Given the description of an element on the screen output the (x, y) to click on. 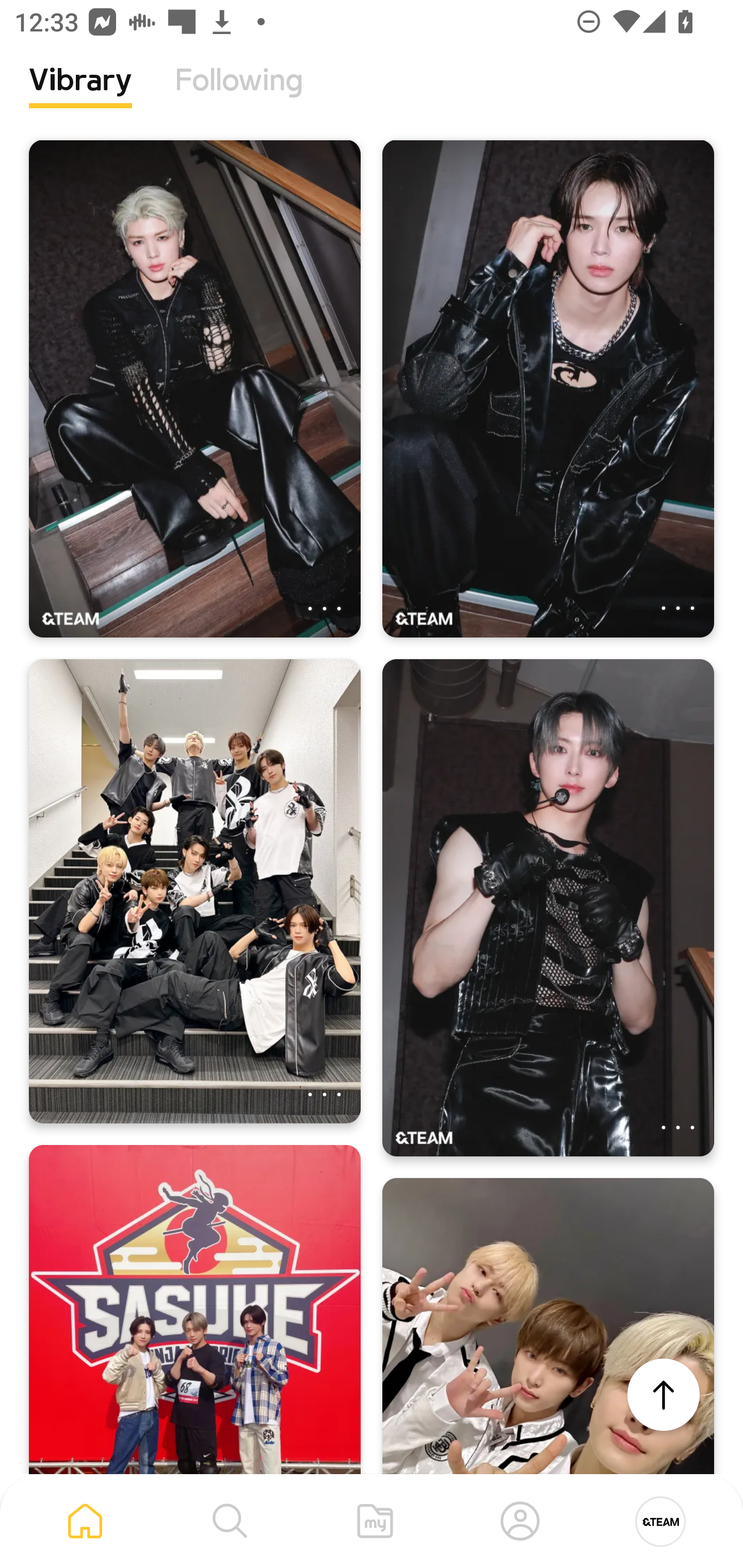
Vibrary (80, 95)
Following (239, 95)
